Given the description of an element on the screen output the (x, y) to click on. 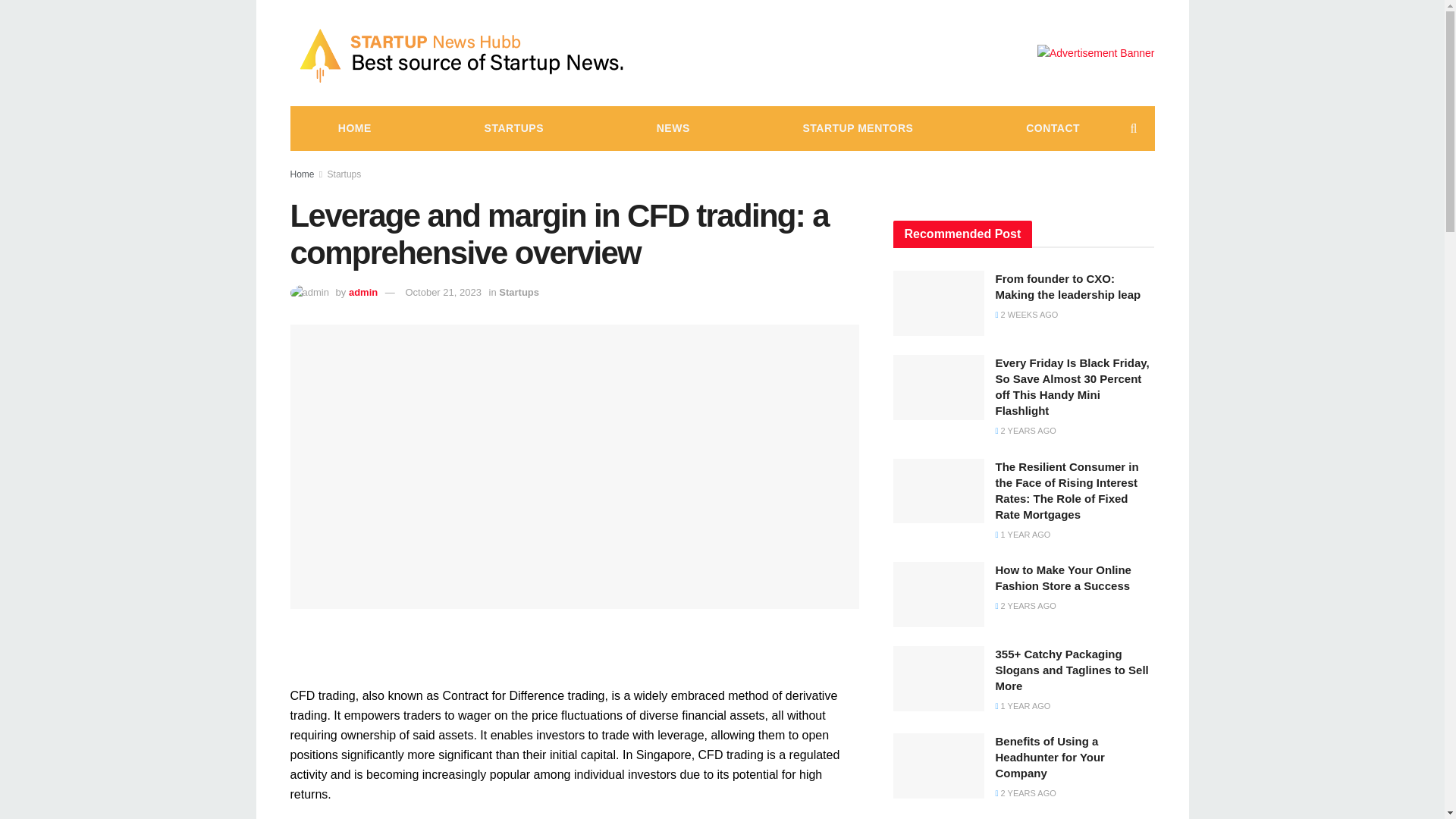
Home (301, 173)
NEWS (673, 127)
Startups (344, 173)
STARTUP MENTORS (857, 127)
admin (363, 292)
CONTACT (1053, 127)
HOME (354, 127)
October 21, 2023 (442, 292)
Startups (518, 292)
STARTUPS (513, 127)
